Given the description of an element on the screen output the (x, y) to click on. 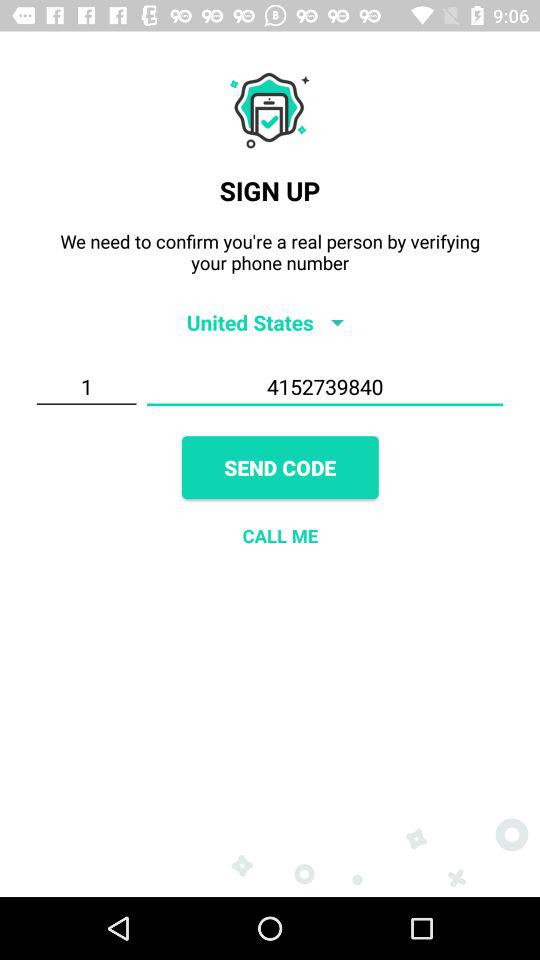
launch item below united states icon (324, 387)
